Given the description of an element on the screen output the (x, y) to click on. 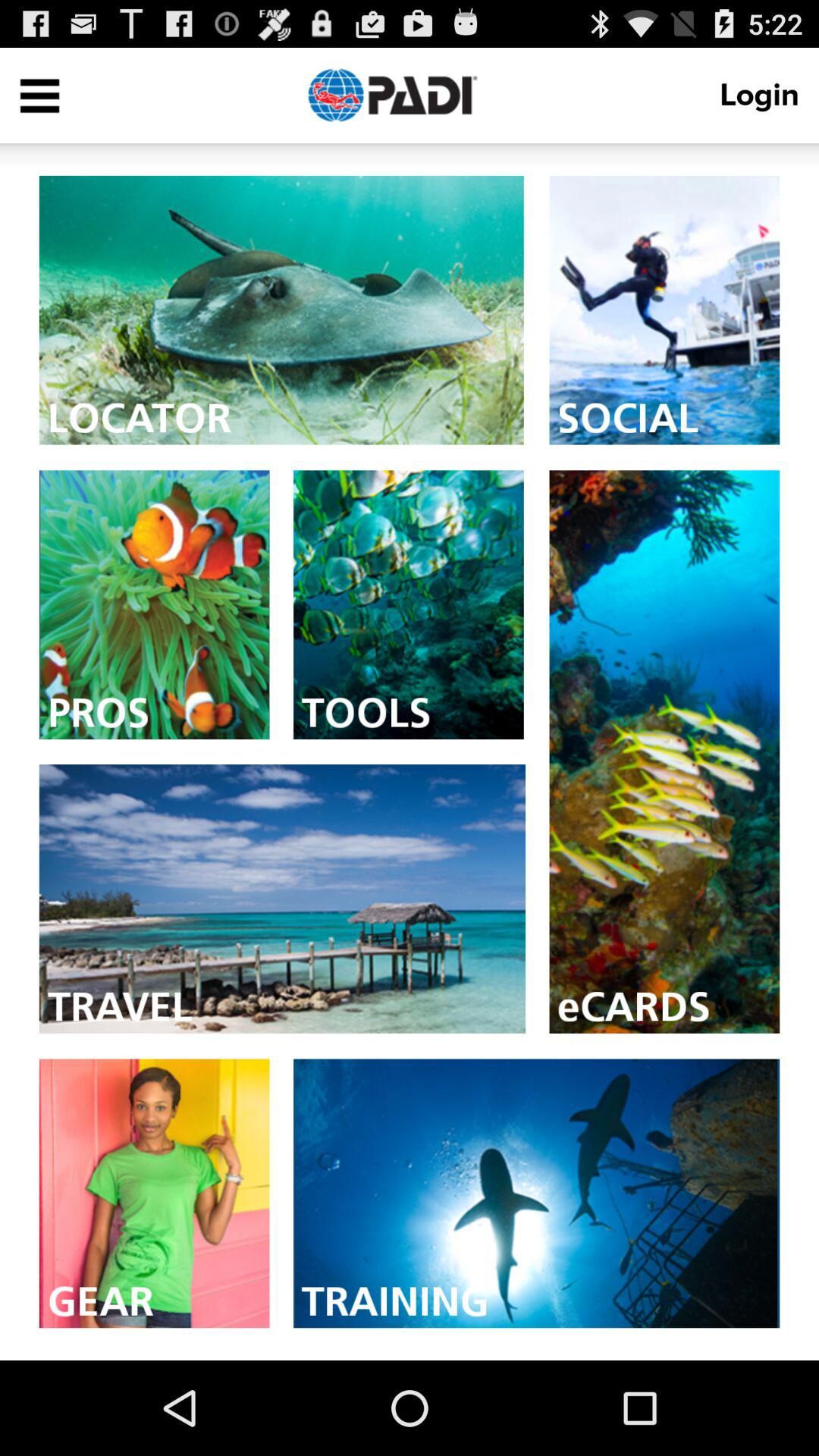
access ecards (664, 751)
